Given the description of an element on the screen output the (x, y) to click on. 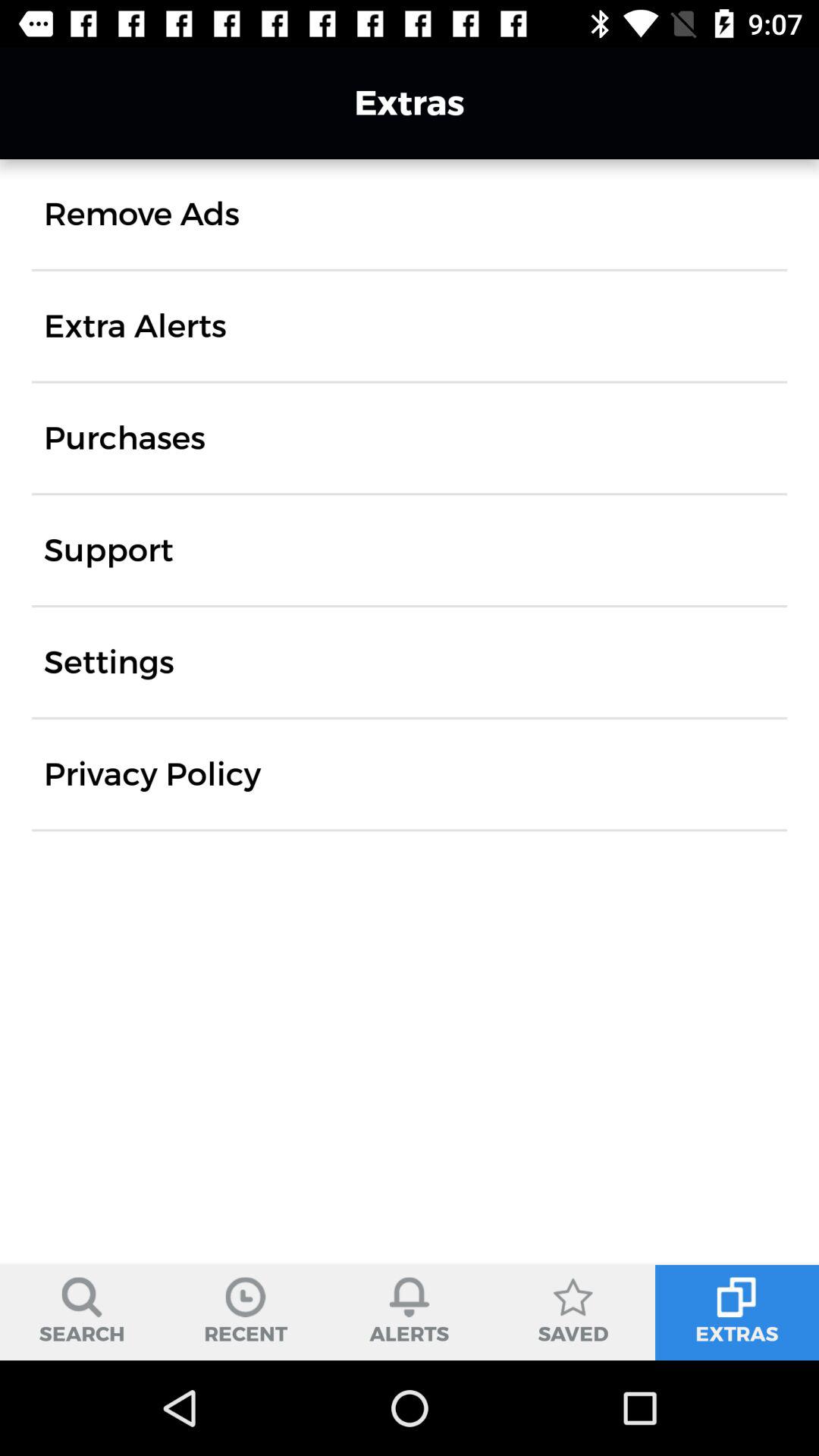
open the icon below the extra alerts icon (124, 438)
